Given the description of an element on the screen output the (x, y) to click on. 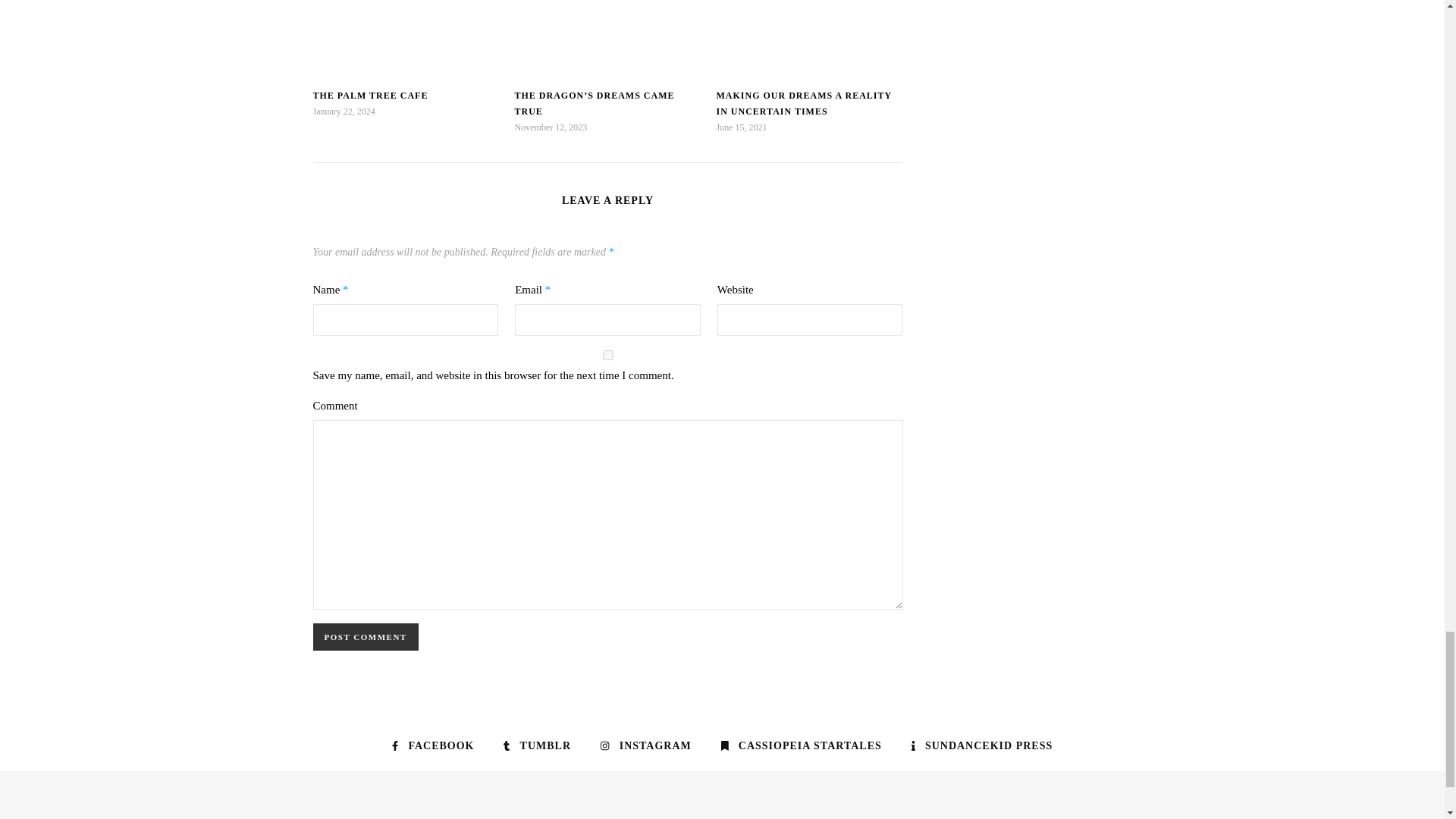
MAKING OUR DREAMS A REALITY IN UNCERTAIN TIMES (803, 103)
Post Comment (365, 636)
yes (607, 355)
THE PALM TREE CAFE (370, 95)
